Given the description of an element on the screen output the (x, y) to click on. 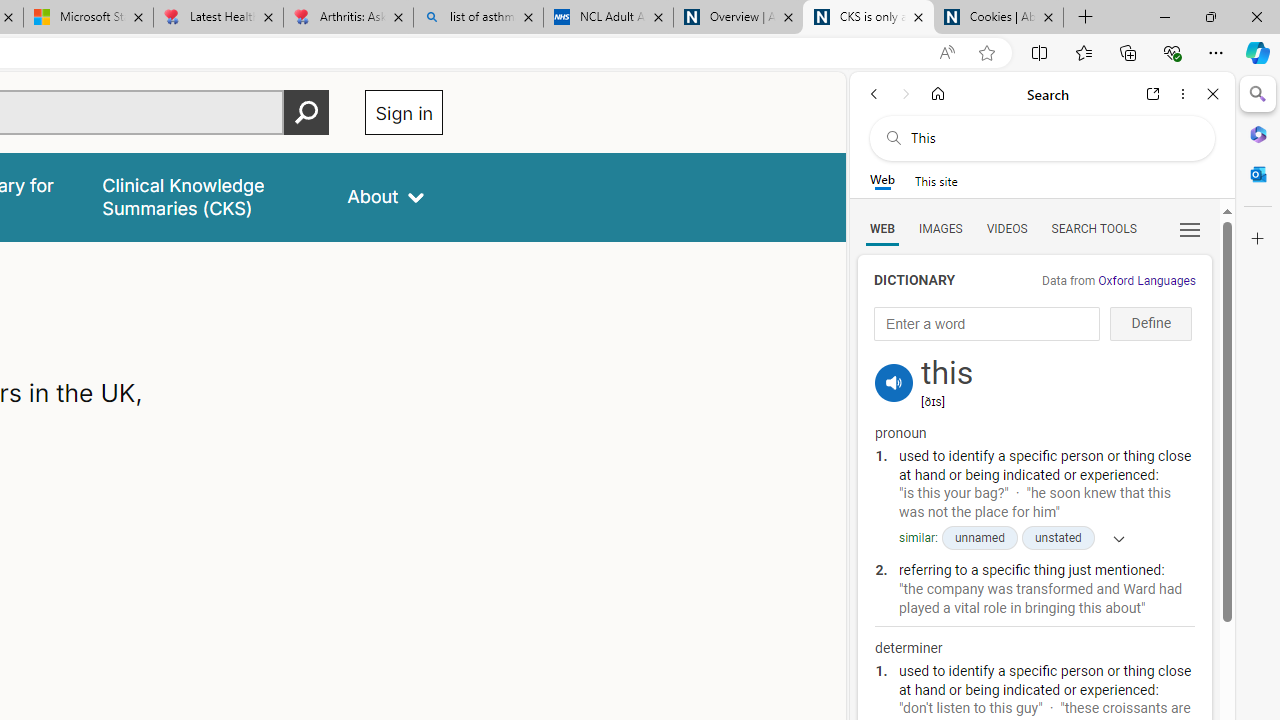
Settings and more (Alt+F) (1215, 52)
Sign in (404, 112)
Search the web (1051, 137)
NCL Adult Asthma Inhaler Choice Guideline (608, 17)
Microsoft Start (88, 17)
About (386, 196)
Class: b_serphb (1190, 229)
Close Customize pane (1258, 239)
Search Filter, VIDEOS (1006, 228)
Browser essentials (1171, 52)
Outlook (1258, 174)
Search Filter, WEB (882, 228)
Arthritis: Ask Health Professionals (348, 17)
